Given the description of an element on the screen output the (x, y) to click on. 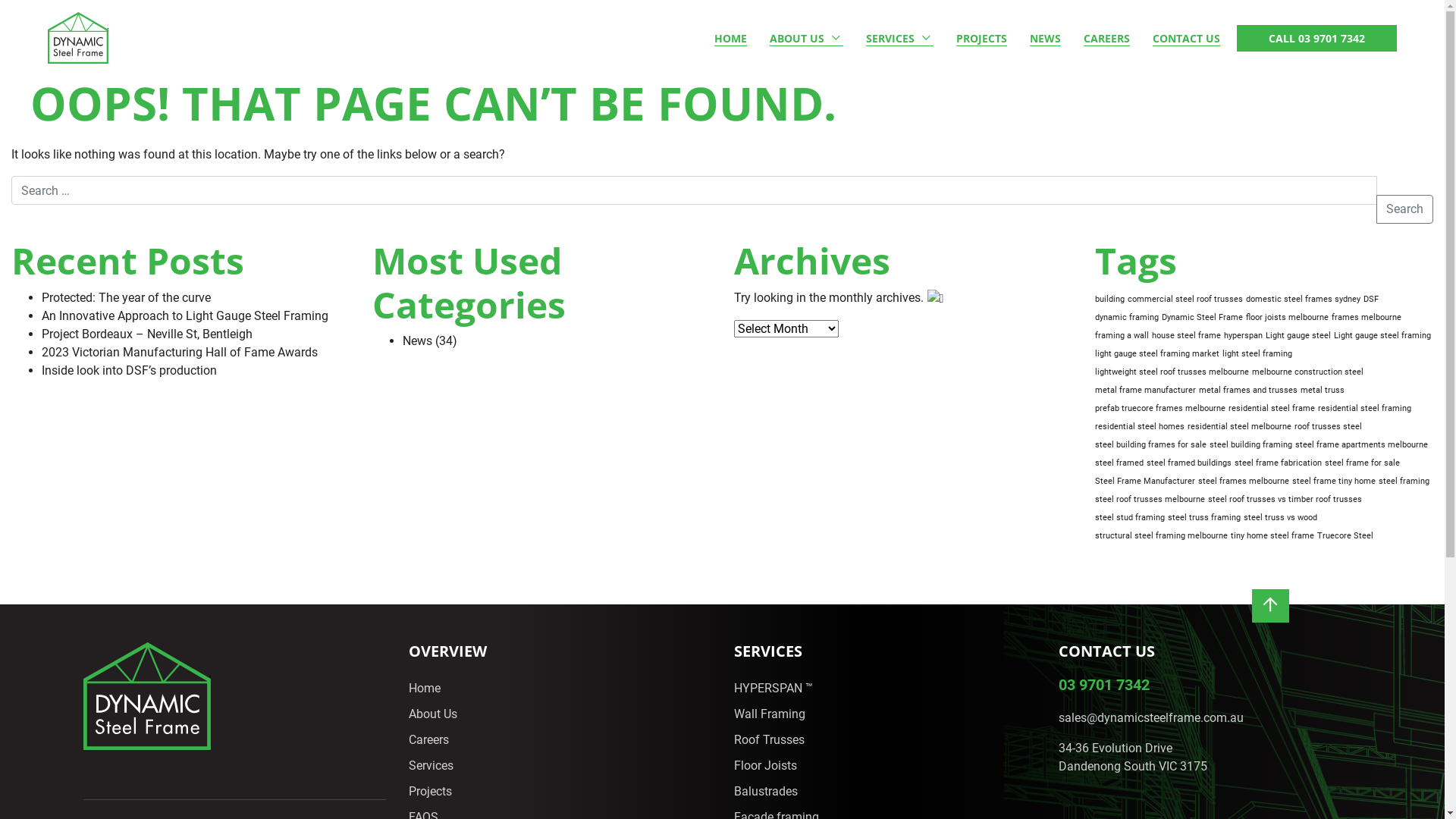
CAREERS Element type: text (1106, 38)
steel truss framing Element type: text (1203, 517)
residential steel homes Element type: text (1139, 426)
frames melbourne Element type: text (1366, 317)
tiny home steel frame Element type: text (1272, 536)
Floor Joists Element type: text (765, 765)
34-36 Evolution Drive
Dandenong South VIC 3175 Element type: text (1132, 757)
HOME Element type: text (730, 38)
Protected: The year of the curve Element type: text (125, 297)
ABOUT US Element type: text (806, 38)
2023 Victorian Manufacturing Hall of Fame Awards Element type: text (179, 352)
Search Element type: text (1404, 208)
PROJECTS Element type: text (981, 38)
light gauge steel framing market Element type: text (1157, 354)
steel frame for sale Element type: text (1361, 463)
steel roof trusses melbourne Element type: text (1149, 499)
Wall Framing Element type: text (769, 714)
residential steel frame Element type: text (1271, 408)
floor joists melbourne Element type: text (1286, 317)
SERVICES Element type: text (899, 38)
framing a wall Element type: text (1121, 335)
Light gauge steel Element type: text (1297, 335)
Roof Trusses Element type: text (769, 740)
Dynamic Steel Frame Element type: hover (77, 37)
house steel frame Element type: text (1185, 335)
Services Element type: text (430, 765)
steel stud framing Element type: text (1129, 517)
metal truss Element type: text (1322, 390)
light steel framing Element type: text (1257, 354)
DSF Element type: text (1370, 299)
hyperspan Element type: text (1242, 335)
An Innovative Approach to Light Gauge Steel Framing Element type: text (184, 316)
Home Element type: text (424, 688)
Light gauge steel framing Element type: text (1381, 335)
steel frame apartments melbourne Element type: text (1361, 445)
CONTACT US Element type: text (1186, 38)
Dynamic Steel Frame Element type: text (1201, 317)
CALL 03 9701 7342 Element type: text (1316, 37)
News Element type: text (417, 341)
steel framed Element type: text (1119, 463)
Projects Element type: text (429, 791)
03 9701 7342 Element type: text (1103, 684)
sales@dynamicsteelframe.com.au Element type: text (1150, 718)
lightweight steel roof trusses melbourne Element type: text (1171, 372)
NEWS Element type: text (1044, 38)
residential steel melbourne Element type: text (1239, 426)
steel roof trusses vs timber roof trusses Element type: text (1284, 499)
metal frames and trusses Element type: text (1247, 390)
steel frame tiny home Element type: text (1333, 481)
Careers Element type: text (428, 740)
Steel Frame Manufacturer Element type: text (1145, 481)
steel building frames for sale Element type: text (1150, 445)
About Us Element type: text (432, 714)
structural steel framing melbourne Element type: text (1161, 536)
commercial steel roof trusses Element type: text (1184, 299)
residential steel framing Element type: text (1364, 408)
steel frames melbourne Element type: text (1243, 481)
steel framed buildings Element type: text (1188, 463)
Balustrades Element type: text (765, 791)
melbourne construction steel Element type: text (1307, 372)
metal frame manufacturer Element type: text (1145, 390)
roof trusses steel Element type: text (1327, 426)
steel building framing Element type: text (1250, 445)
building Element type: text (1109, 299)
prefab truecore frames melbourne Element type: text (1160, 408)
steel truss vs wood Element type: text (1280, 517)
Truecore Steel Element type: text (1345, 536)
domestic steel frames sydney Element type: text (1302, 299)
dynamic framing Element type: text (1126, 317)
steel frame fabrication Element type: text (1277, 463)
steel framing Element type: text (1403, 481)
